Given the description of an element on the screen output the (x, y) to click on. 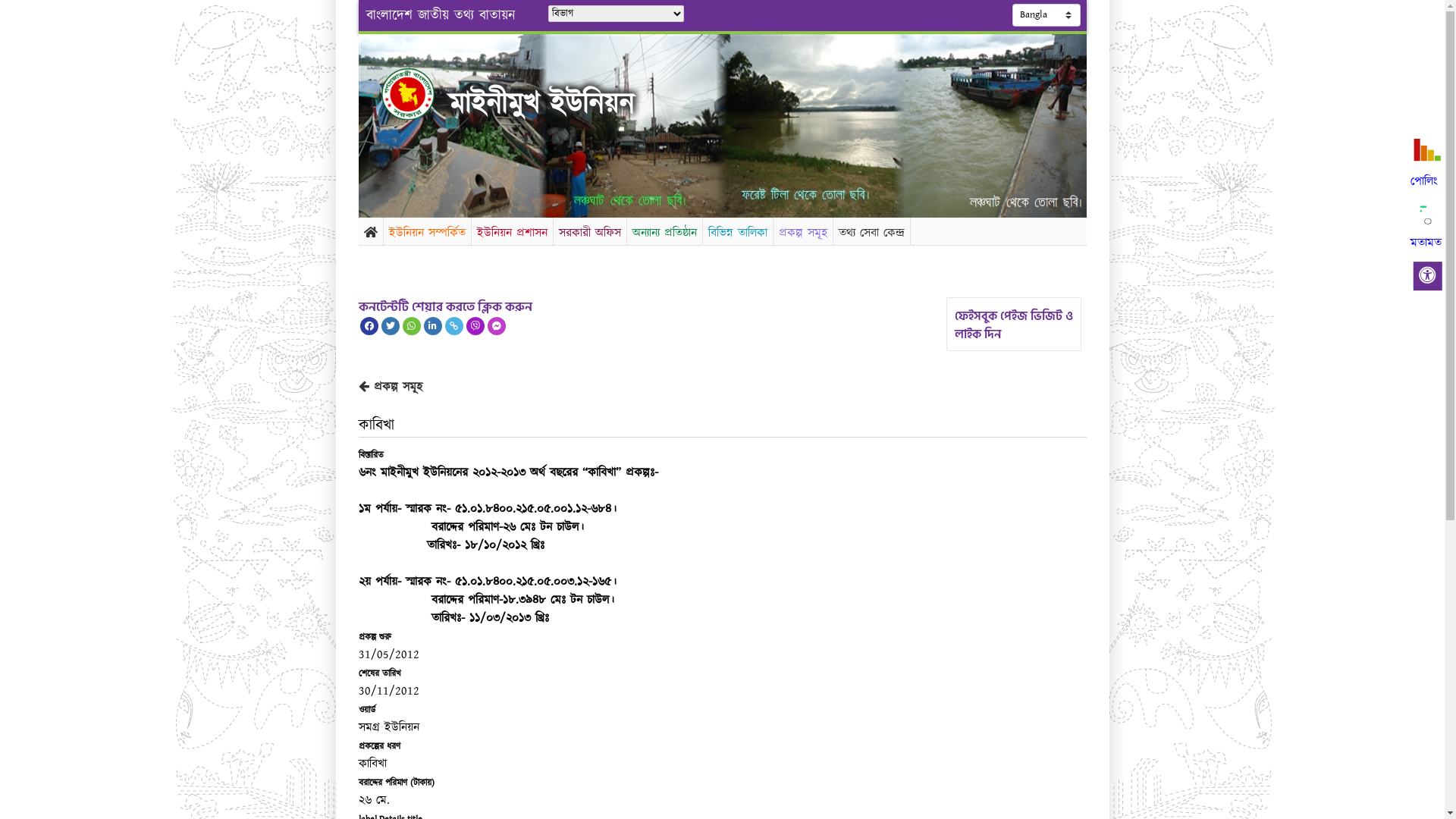

                
             Element type: hover (420, 93)
